Given the description of an element on the screen output the (x, y) to click on. 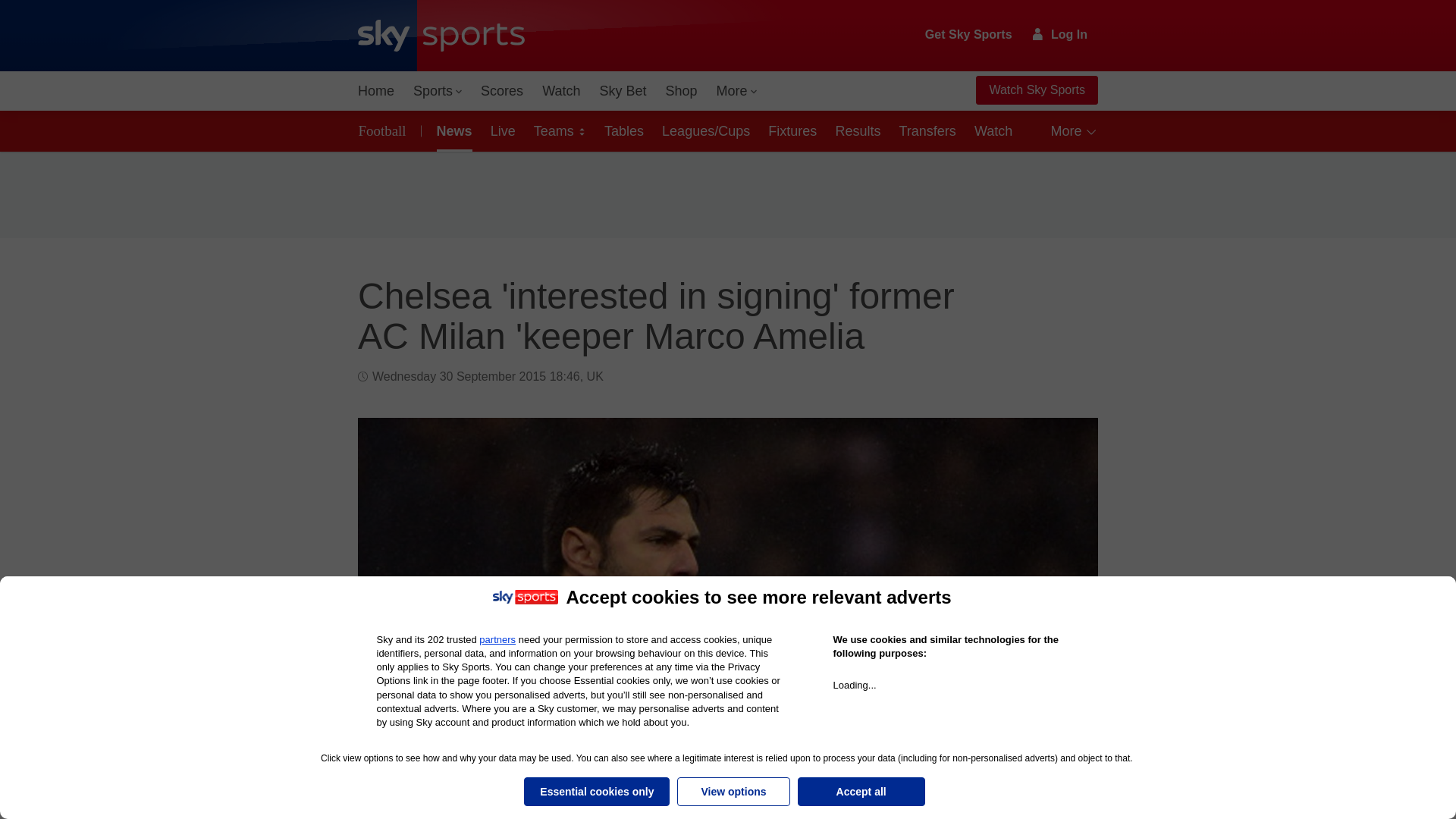
More (736, 91)
Watch Sky Sports (1036, 90)
Home (375, 91)
News (451, 130)
Get Sky Sports (968, 34)
Log In (1060, 33)
Sky Bet (622, 91)
Sports (437, 91)
Shop (681, 91)
Football (385, 130)
